Given the description of an element on the screen output the (x, y) to click on. 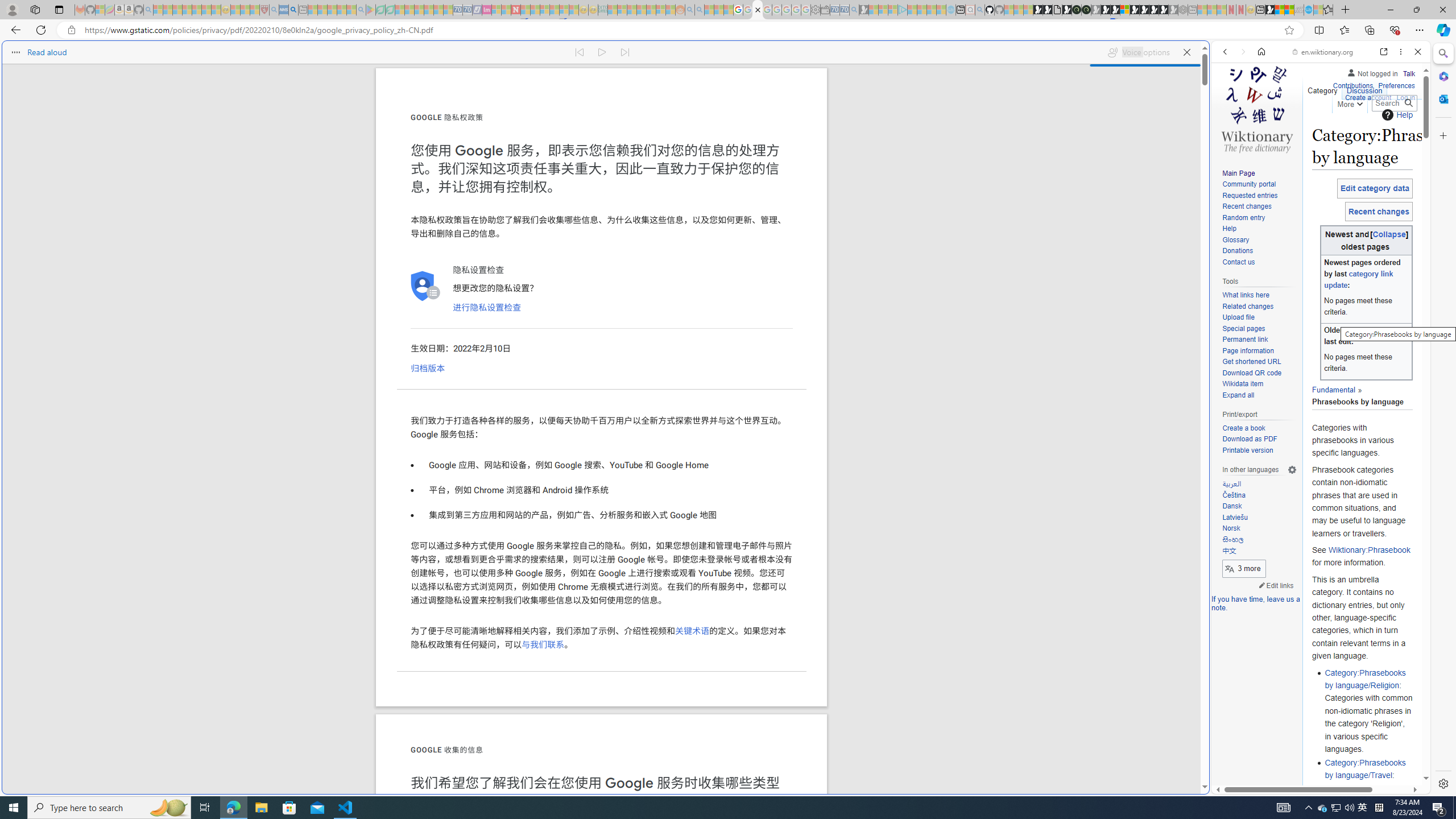
Contact us (1259, 262)
Talk (1408, 71)
Read previous paragraph (579, 52)
Dansk (1231, 506)
Close split screen (1208, 57)
